Given the description of an element on the screen output the (x, y) to click on. 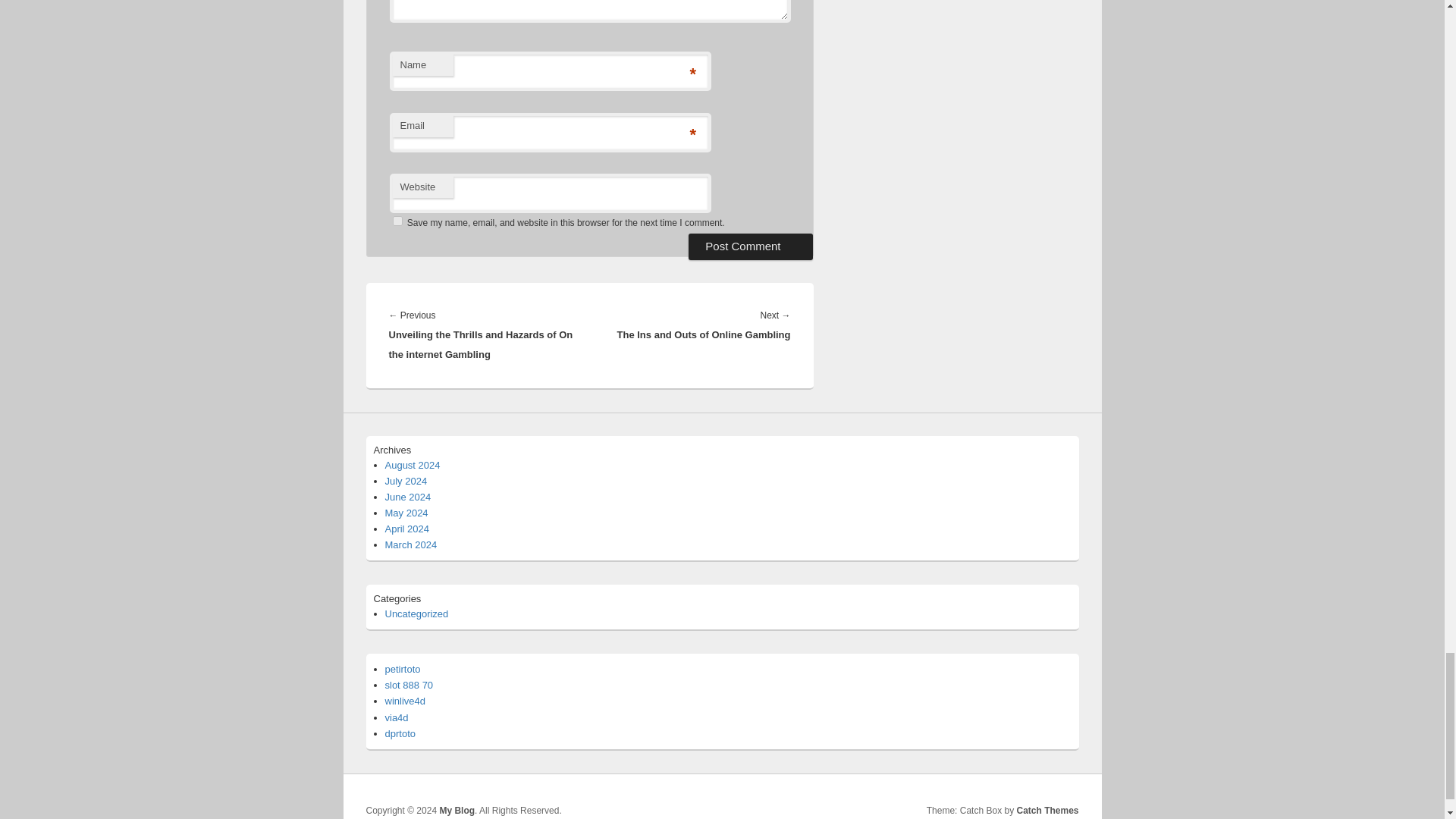
Post Comment (750, 246)
Post Comment (750, 246)
yes (398, 221)
Catch Themes (1047, 810)
My Blog (456, 810)
